Given the description of an element on the screen output the (x, y) to click on. 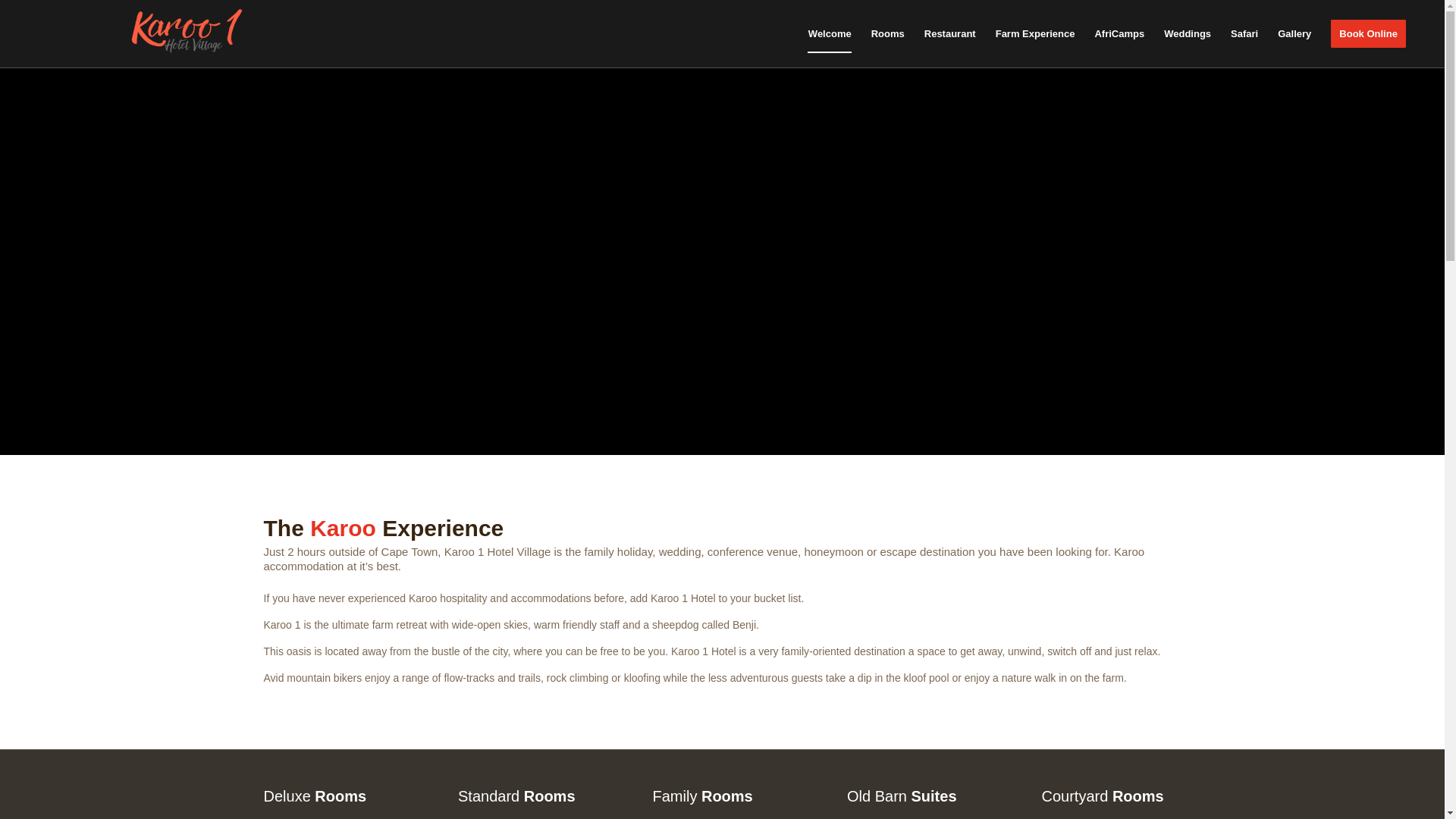
Courtyard Rooms (1102, 795)
Restaurant (949, 33)
Deluxe Rooms (314, 795)
Weddings (1187, 33)
AfriCamps (1119, 33)
Farm Experience (1034, 33)
Old Barn Suites (901, 795)
Family Rooms (702, 795)
Standard Rooms (516, 795)
Book Online (1367, 33)
